Given the description of an element on the screen output the (x, y) to click on. 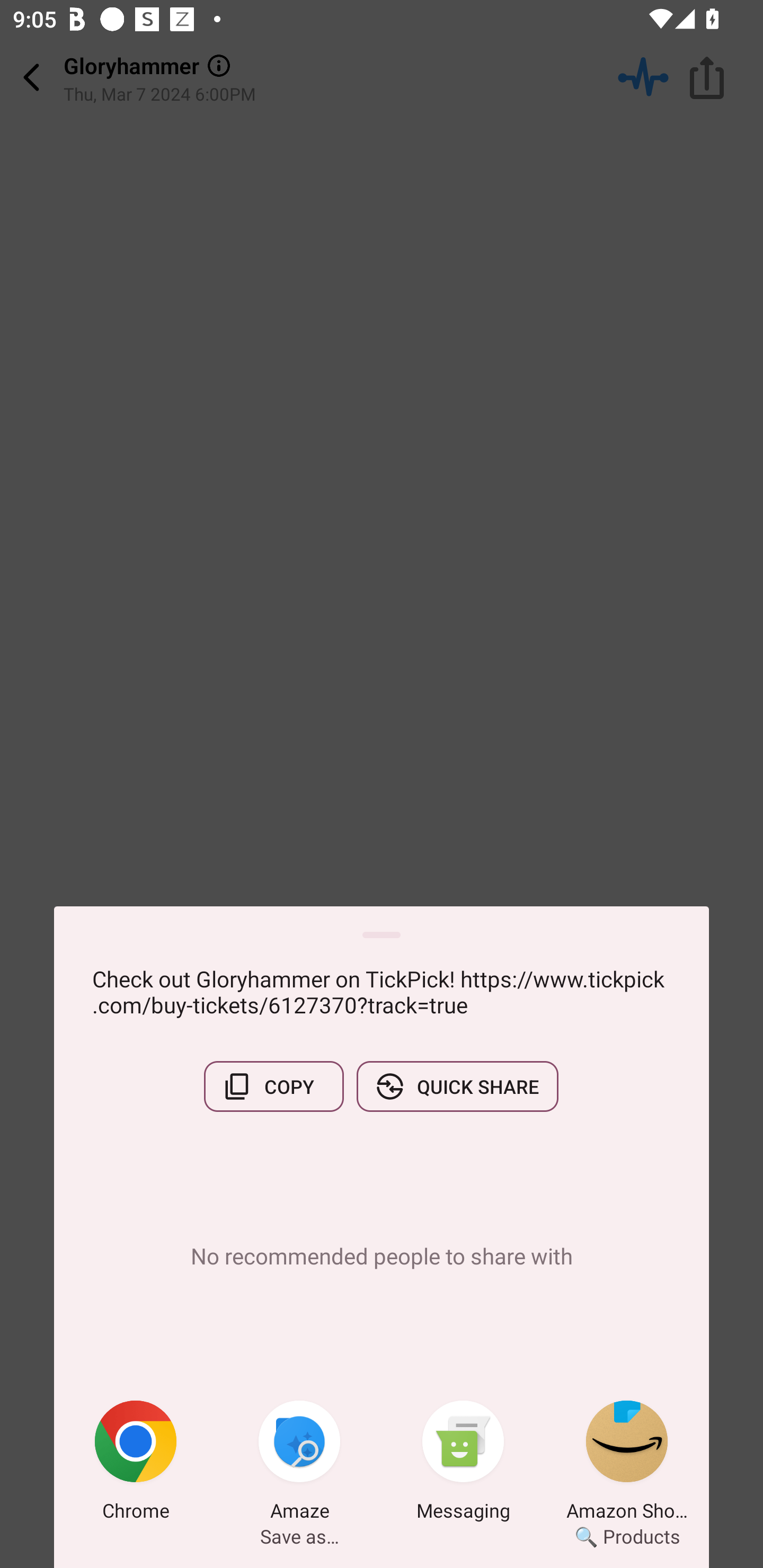
COPY (273, 1086)
QUICK SHARE (457, 1086)
Chrome (135, 1463)
Amaze Save as… (299, 1463)
Messaging (463, 1463)
Amazon Shopping 🔍 Products (626, 1463)
